Given the description of an element on the screen output the (x, y) to click on. 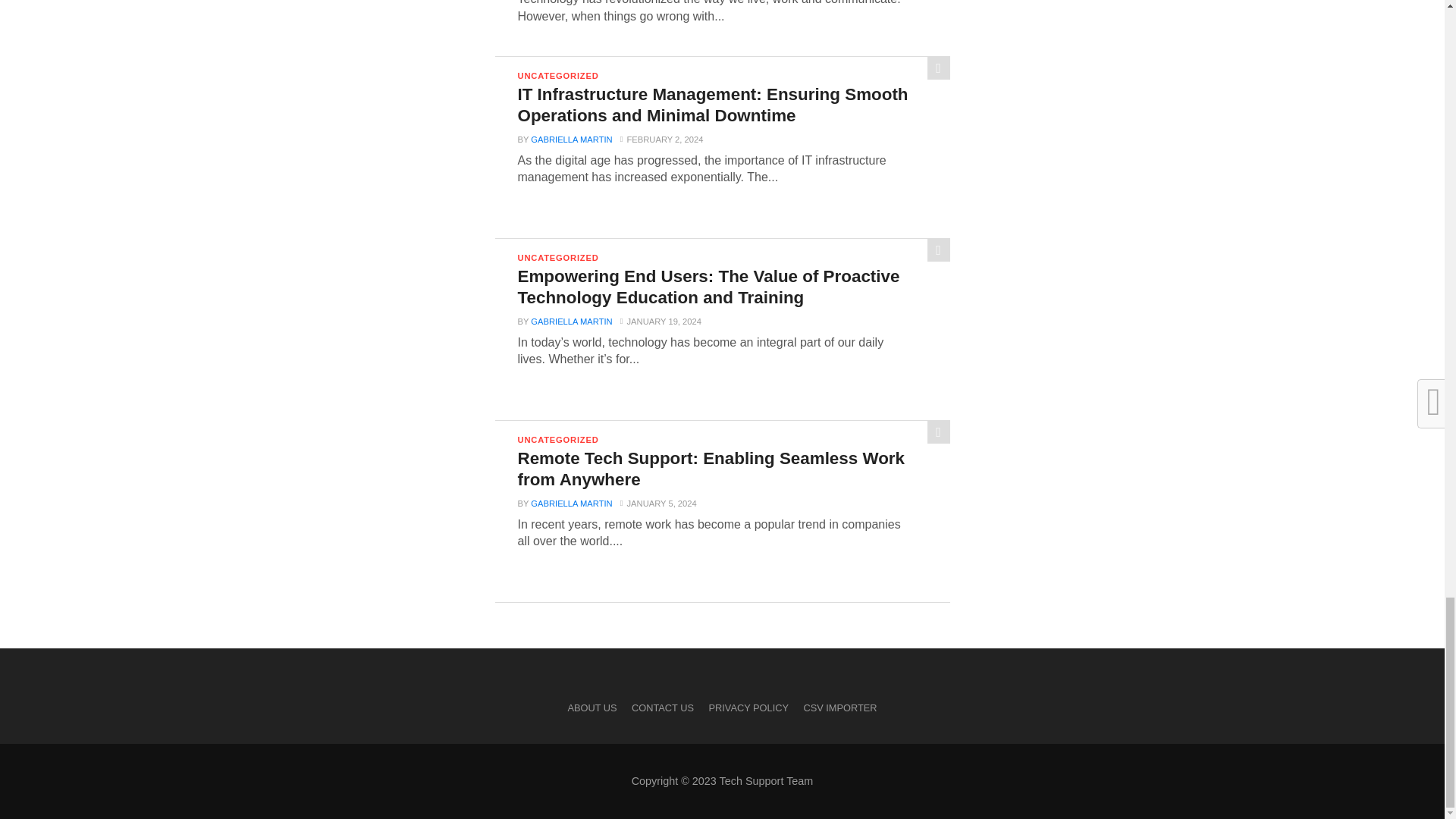
Posts by Gabriella Martin (571, 139)
